Given the description of an element on the screen output the (x, y) to click on. 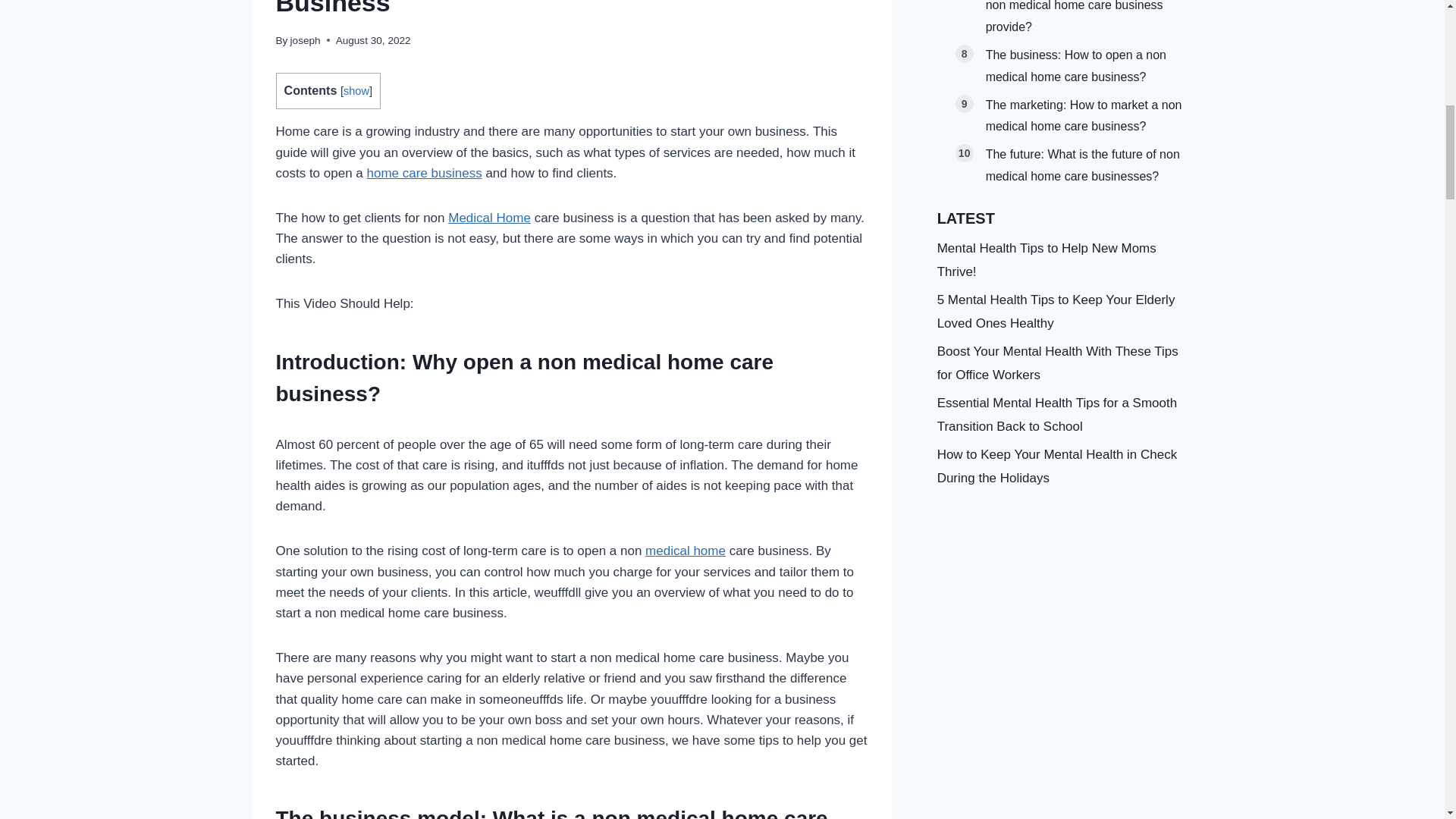
medical home (685, 550)
medical home (652, 361)
show (356, 91)
home care business (423, 173)
Medical Home (489, 217)
joseph (304, 40)
